Given the description of an element on the screen output the (x, y) to click on. 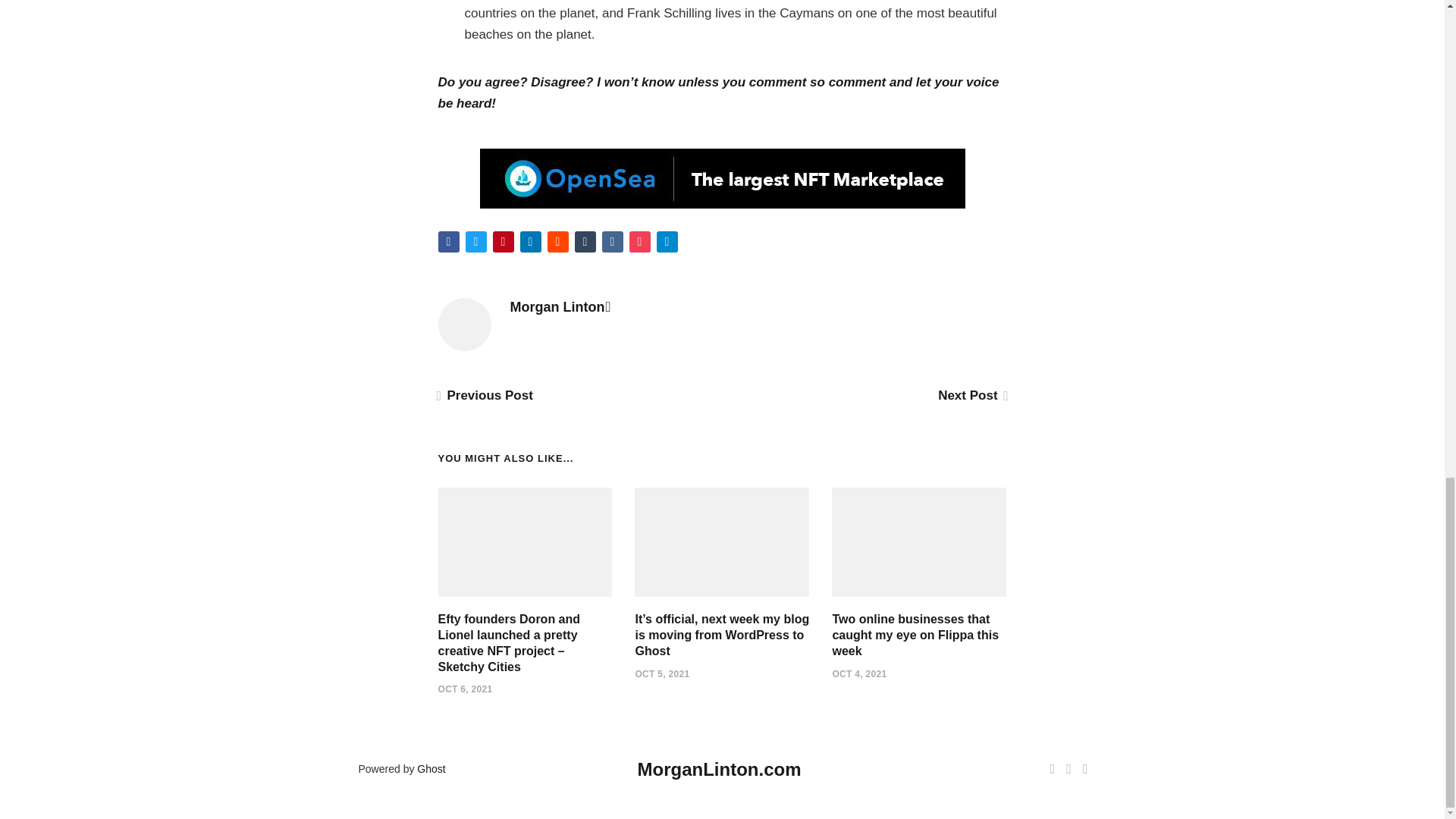
Previous Post (485, 395)
Next Post (971, 395)
